Given the description of an element on the screen output the (x, y) to click on. 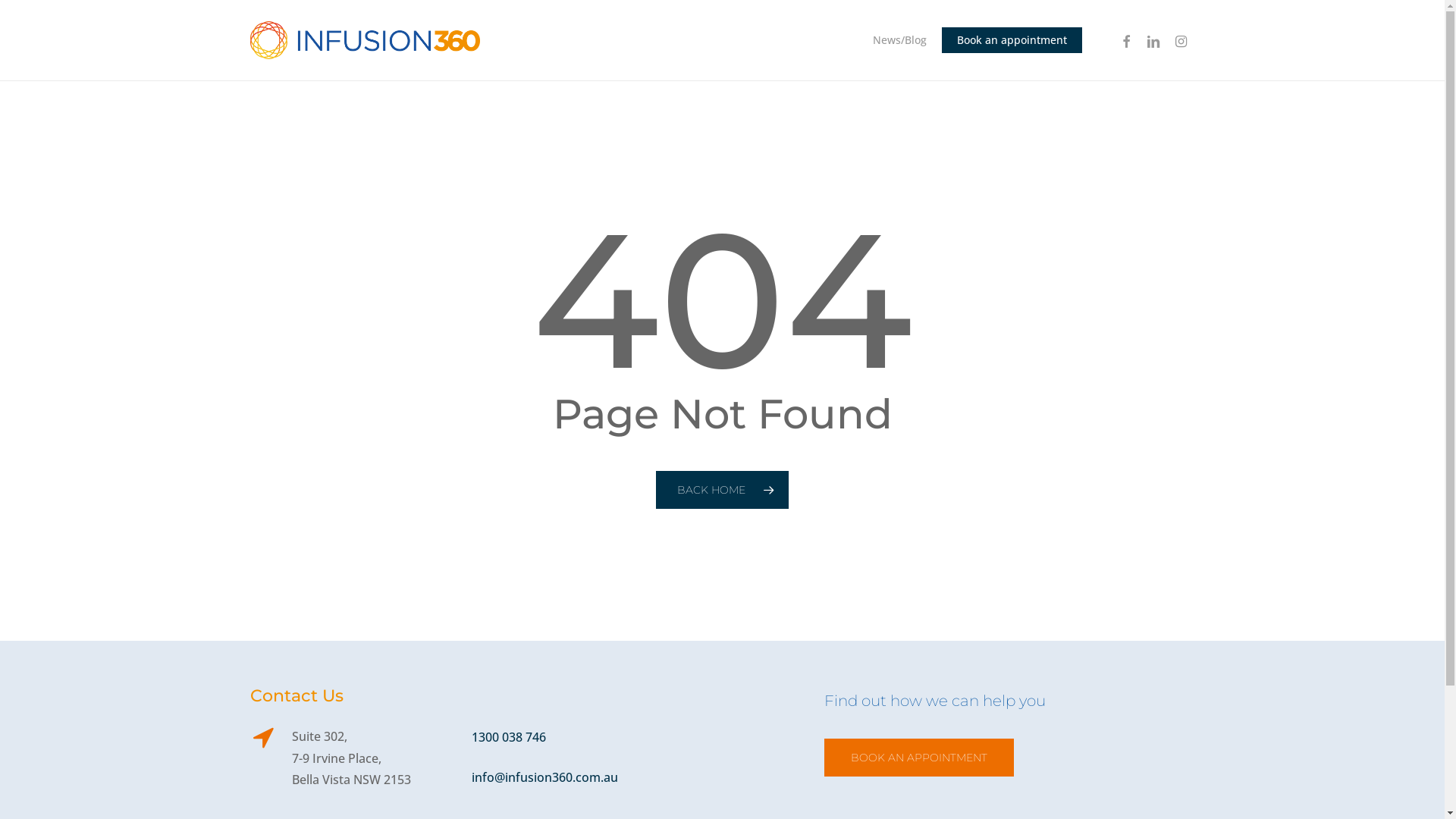
instagram Element type: text (1180, 39)
News/Blog Element type: text (899, 39)
BOOK AN APPOINTMENT Element type: text (918, 757)
Book an appointment Element type: text (1011, 39)
linkedin Element type: text (1153, 39)
1300 038 746 Element type: text (508, 736)
BACK HOME Element type: text (721, 489)
facebook Element type: text (1125, 39)
info@infusion360.com.au Element type: text (544, 776)
